Given the description of an element on the screen output the (x, y) to click on. 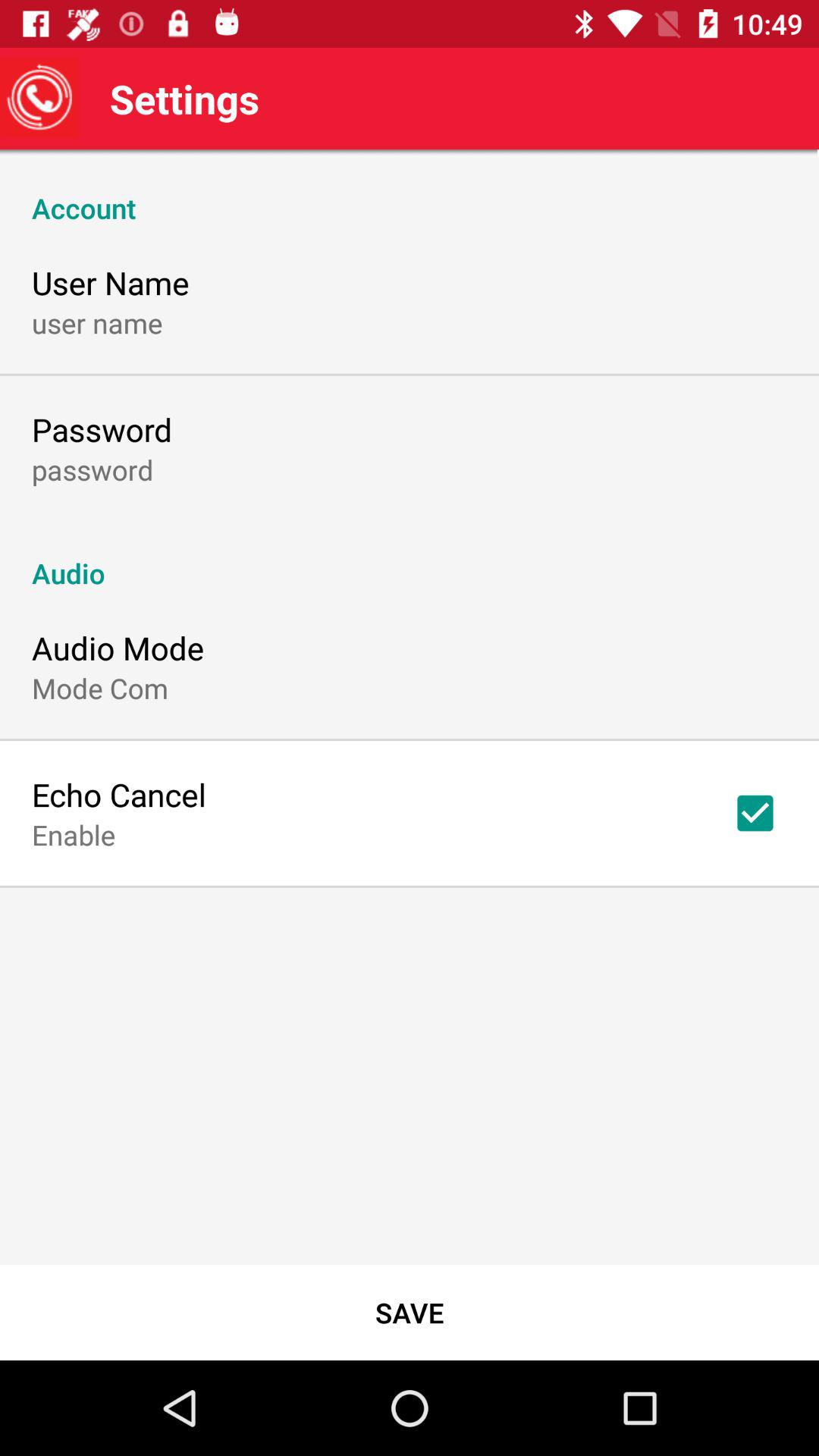
open the item above the echo cancel (99, 687)
